Given the description of an element on the screen output the (x, y) to click on. 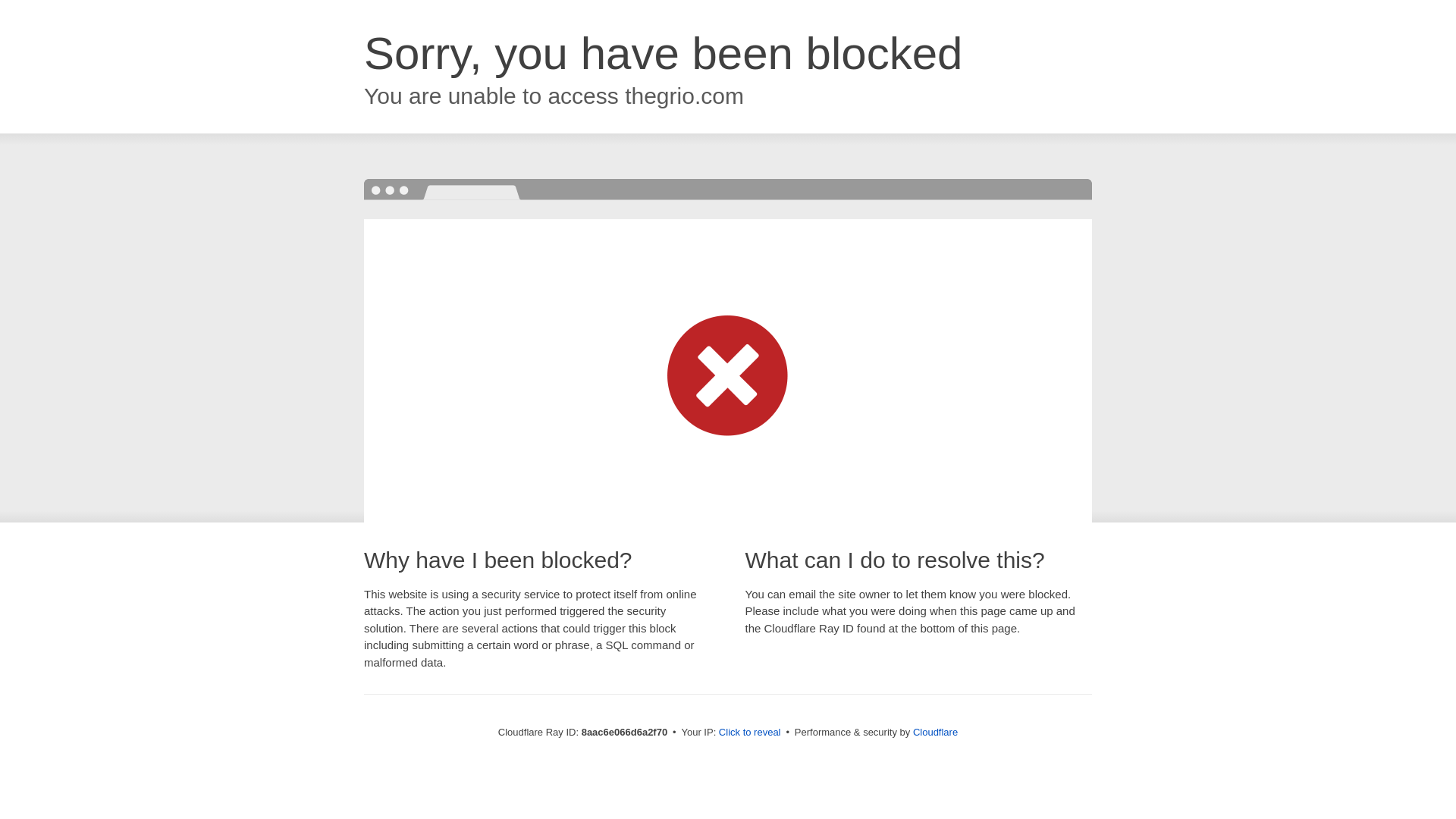
Cloudflare (935, 731)
Click to reveal (749, 732)
